Given the description of an element on the screen output the (x, y) to click on. 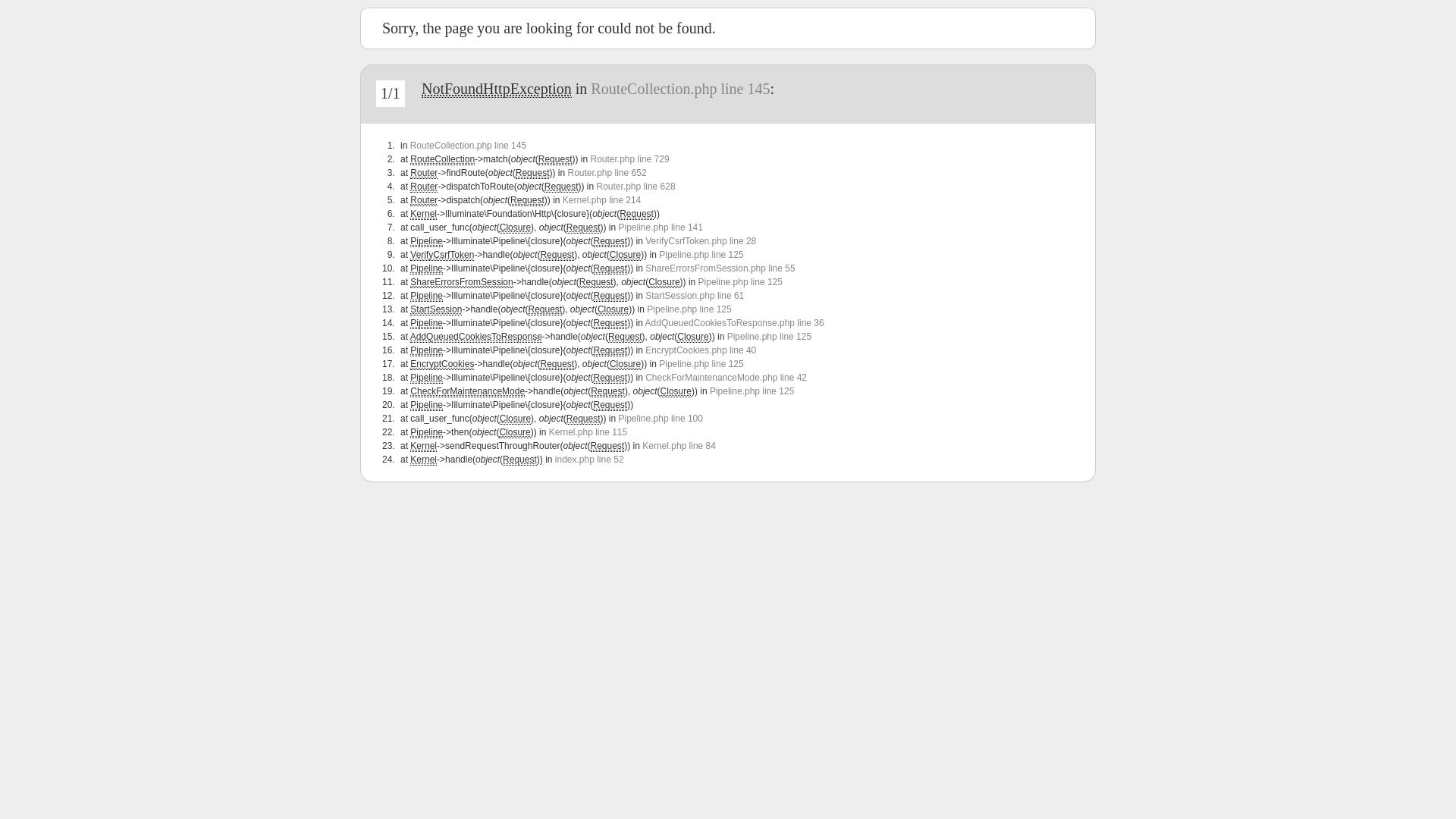
Pipeline.php line 125 Element type: text (751, 390)
CheckForMaintenanceMode.php line 42 Element type: text (725, 377)
Pipeline.php line 125 Element type: text (700, 363)
RouteCollection.php line 145 Element type: text (679, 88)
Pipeline.php line 125 Element type: text (700, 254)
Router.php line 729 Element type: text (628, 158)
Router.php line 652 Element type: text (606, 172)
Kernel.php line 115 Element type: text (588, 431)
Kernel.php line 84 Element type: text (678, 445)
VerifyCsrfToken.php line 28 Element type: text (700, 240)
EncryptCookies.php line 40 Element type: text (700, 350)
index.php line 52 Element type: text (589, 459)
Pipeline.php line 125 Element type: text (769, 336)
ShareErrorsFromSession.php line 55 Element type: text (719, 268)
StartSession.php line 61 Element type: text (694, 295)
Pipeline.php line 141 Element type: text (660, 227)
Router.php line 628 Element type: text (635, 186)
RouteCollection.php line 145 Element type: text (468, 145)
Kernel.php line 214 Element type: text (601, 199)
Pipeline.php line 125 Element type: text (740, 281)
Pipeline.php line 100 Element type: text (660, 418)
Pipeline.php line 125 Element type: text (688, 309)
AddQueuedCookiesToResponse.php line 36 Element type: text (734, 322)
